Given the description of an element on the screen output the (x, y) to click on. 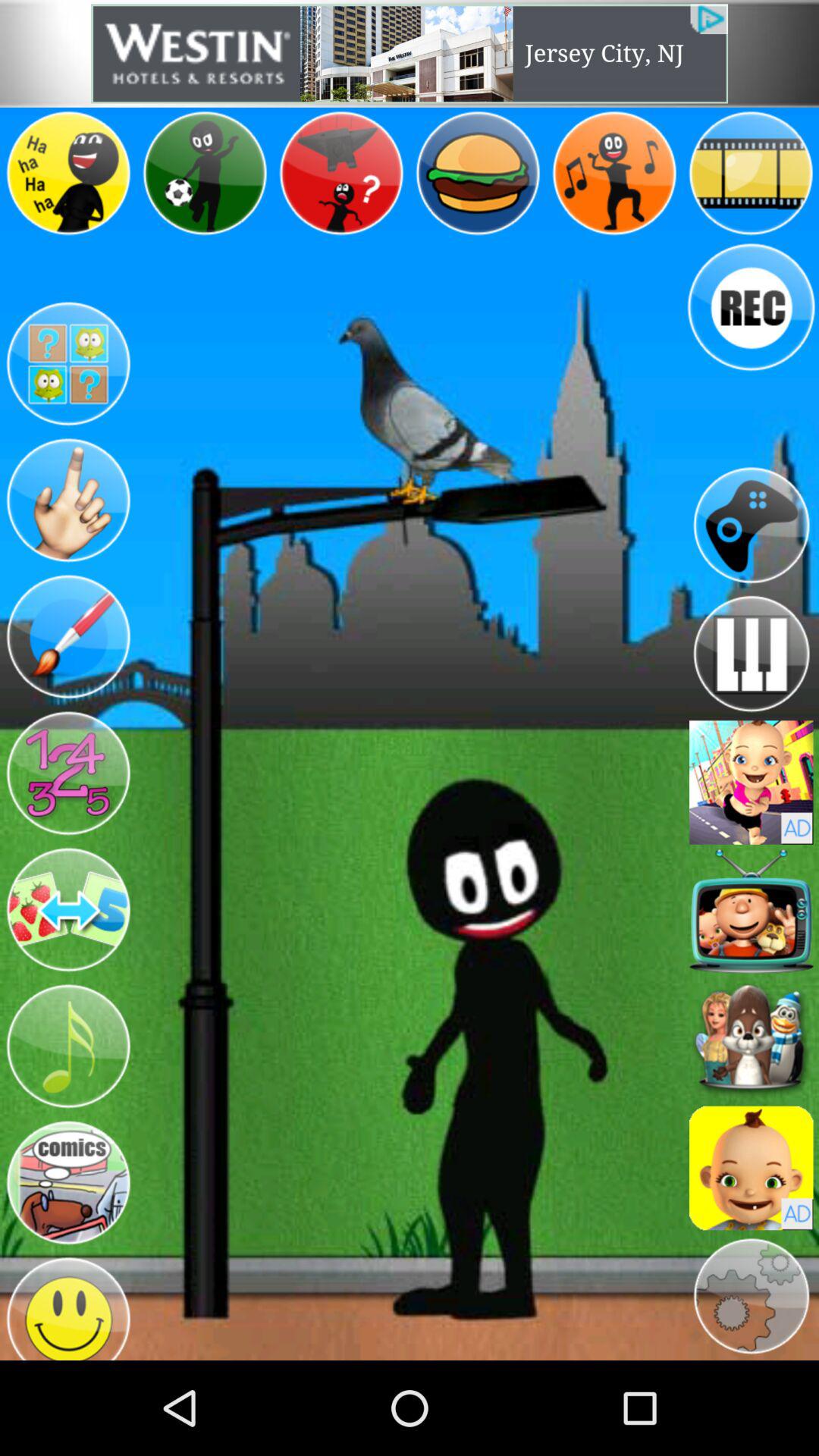
see advertisement (751, 1167)
